Given the description of an element on the screen output the (x, y) to click on. 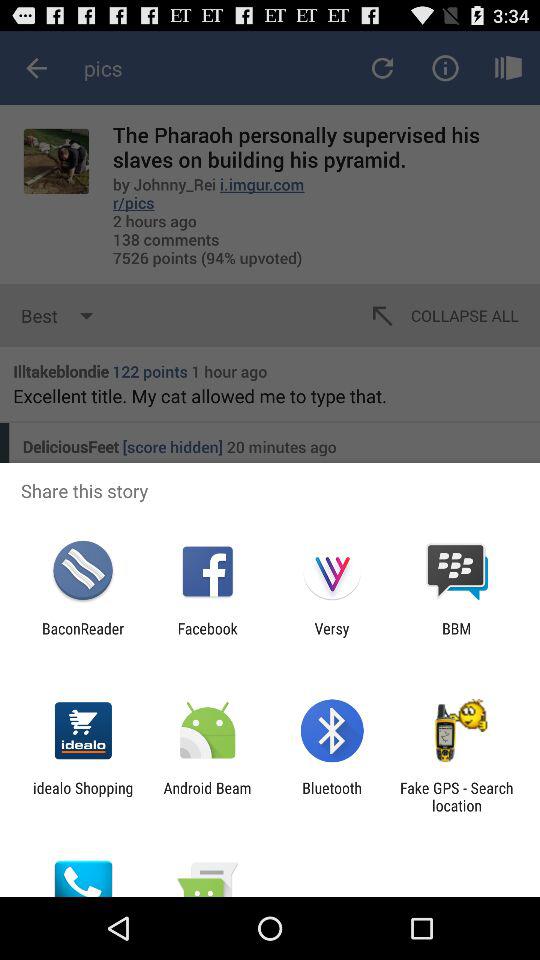
open the bluetooth icon (331, 796)
